Given the description of an element on the screen output the (x, y) to click on. 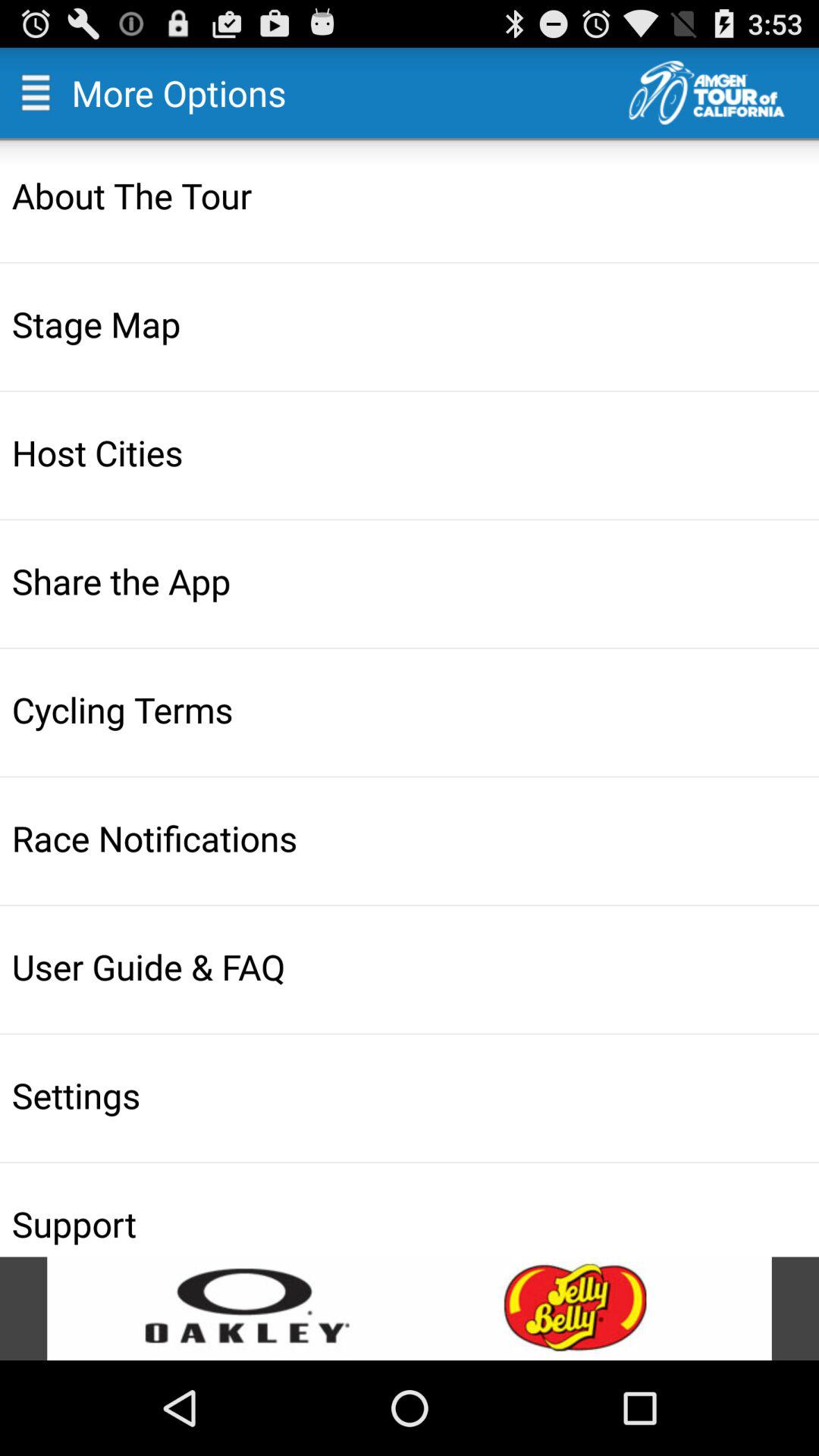
tap host cities item (411, 452)
